Given the description of an element on the screen output the (x, y) to click on. 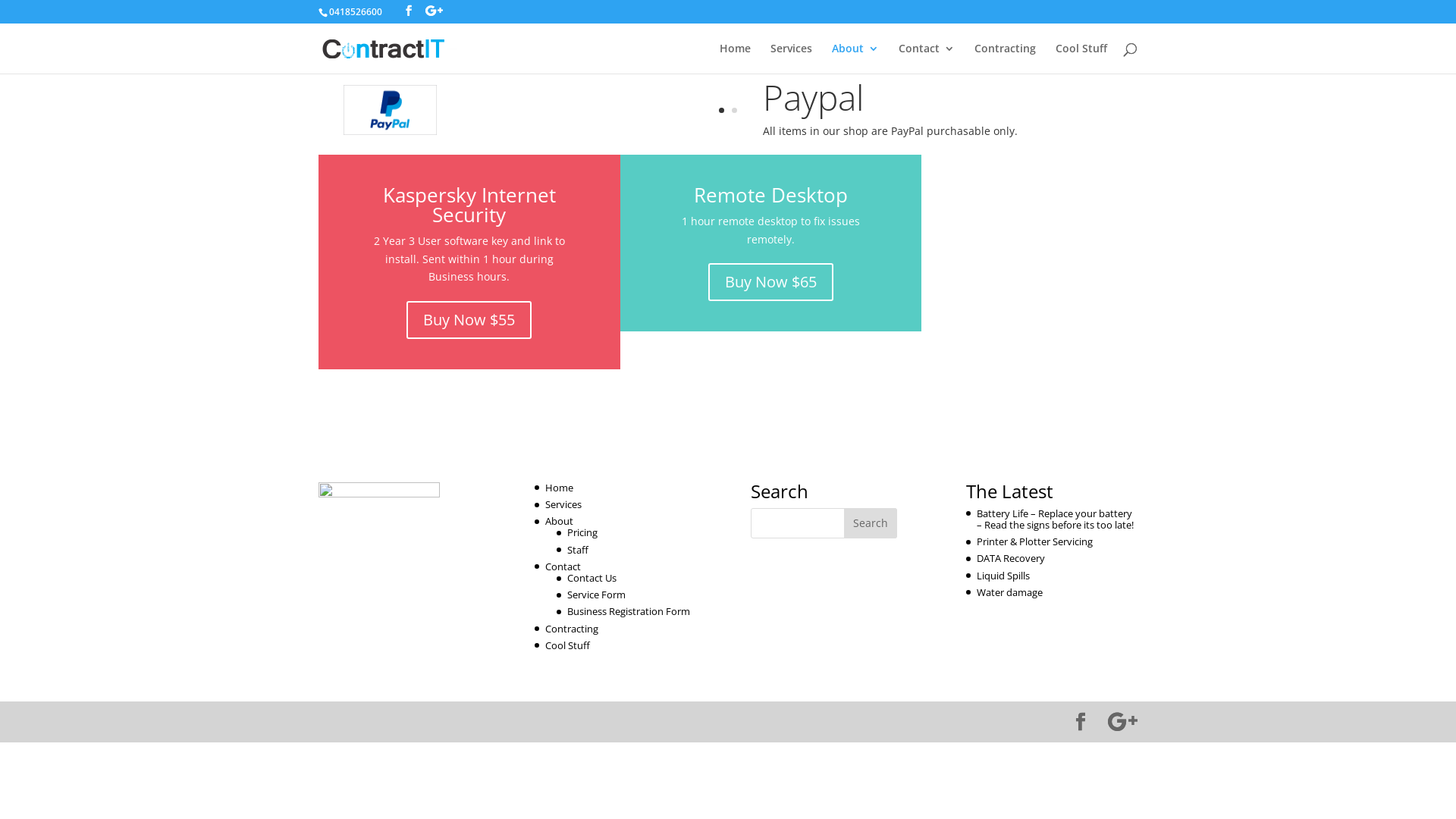
Contact Element type: text (926, 58)
1 Element type: text (721, 109)
Home Element type: text (734, 58)
2 Element type: text (734, 109)
Contracting Element type: text (571, 628)
Printer & Plotter Servicing Element type: text (1034, 541)
Contracting Element type: text (1004, 58)
About Element type: text (854, 58)
Home Element type: text (559, 487)
Search Element type: text (870, 523)
Water damage Element type: text (1009, 592)
Contact Us Element type: text (591, 577)
Business Registration Form Element type: text (628, 611)
Cool Stuff Element type: text (567, 645)
DATA Recovery Element type: text (1010, 557)
Services Element type: text (791, 58)
Service Form Element type: text (596, 594)
Contact Element type: text (562, 566)
Cool Stuff Element type: text (1081, 58)
Staff Element type: text (577, 549)
Pricing Element type: text (582, 532)
Paypal Element type: text (812, 96)
Buy Now $55 Element type: text (468, 319)
About Element type: text (559, 520)
Services Element type: text (563, 504)
Buy Now $65 Element type: text (770, 282)
Liquid Spills Element type: text (1002, 575)
